Given the description of an element on the screen output the (x, y) to click on. 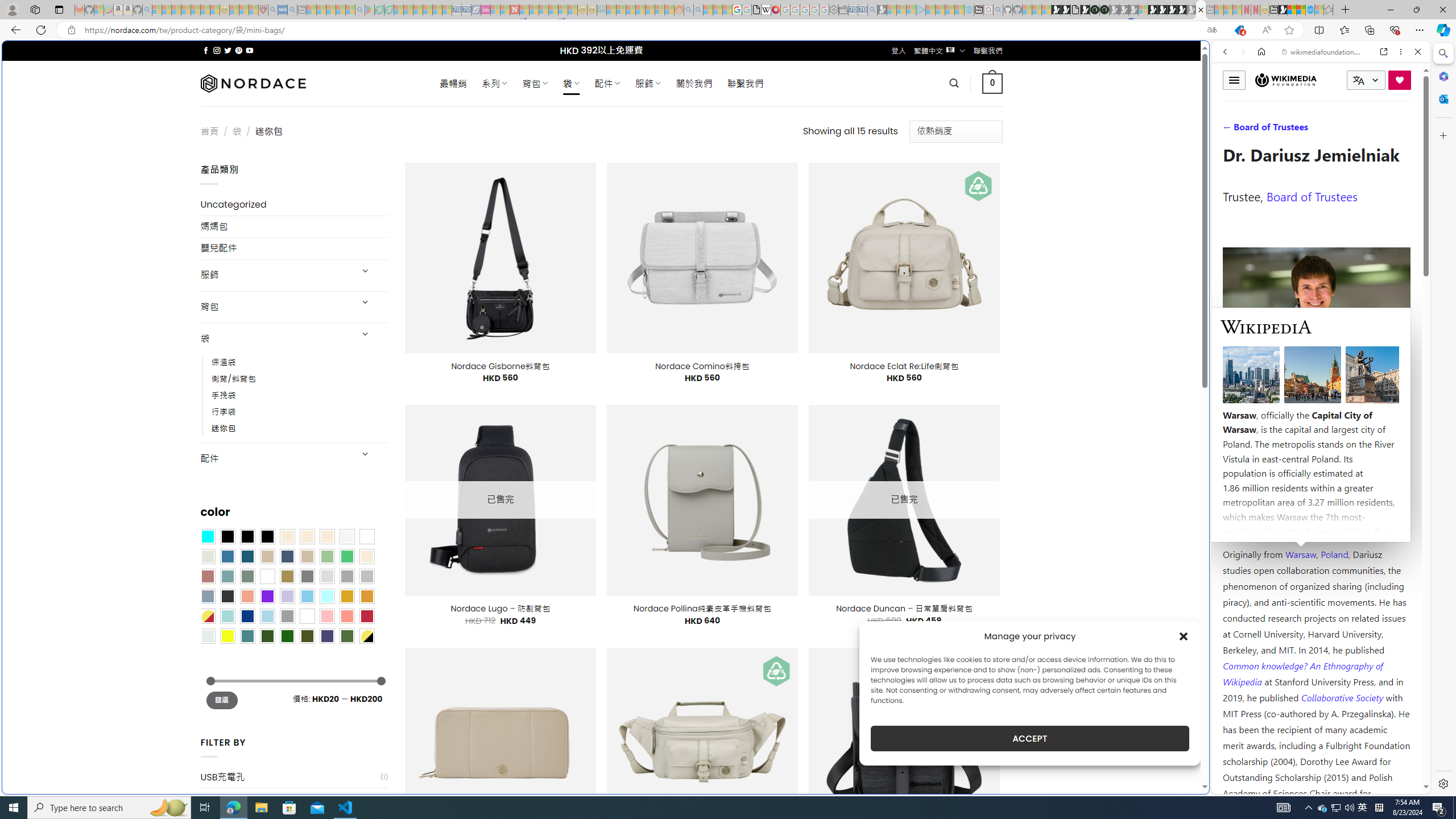
This site has coupons! Shopping in Microsoft Edge, 4 (1239, 29)
Web scope (1230, 102)
Follow on Pinterest (237, 50)
Common knowledge? An Ethnography of Wikipedia (1302, 672)
Play Cave FRVR in your browser | Games from Microsoft Start (922, 242)
